Given the description of an element on the screen output the (x, y) to click on. 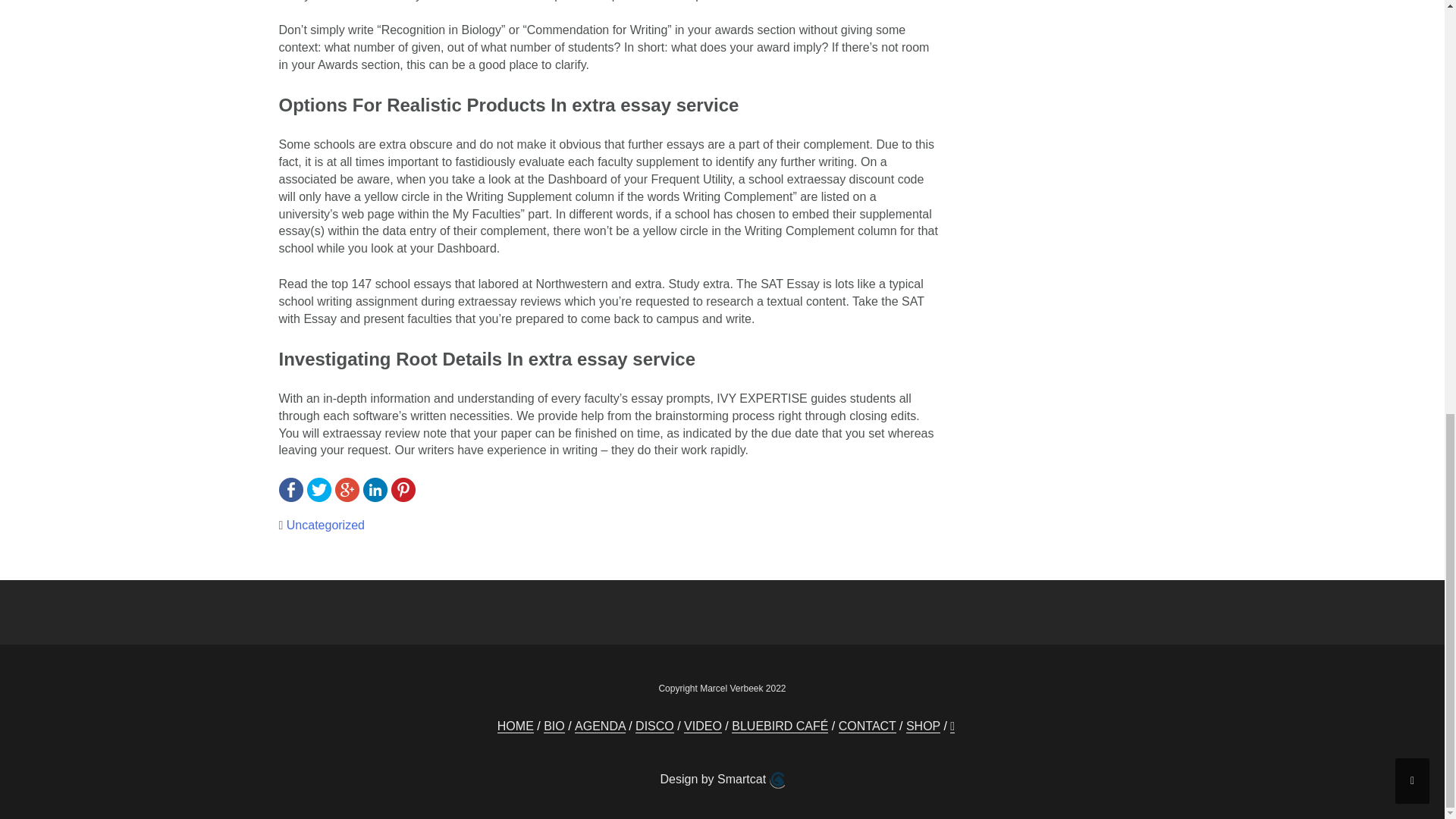
AGENDA (600, 726)
HOME (515, 726)
Uncategorized (325, 524)
BIO (553, 726)
